Given the description of an element on the screen output the (x, y) to click on. 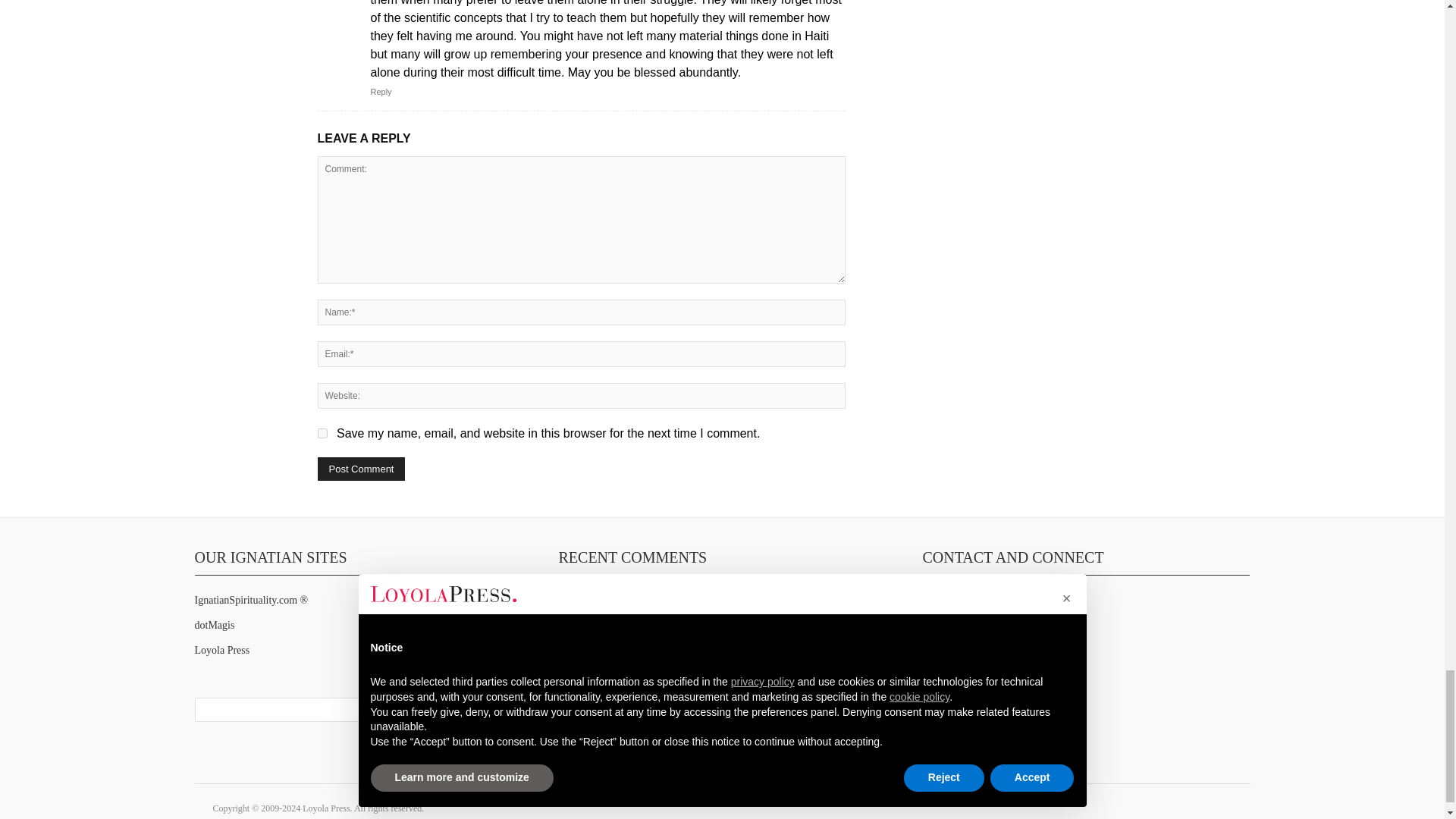
Post Comment (360, 468)
yes (321, 433)
